Given the description of an element on the screen output the (x, y) to click on. 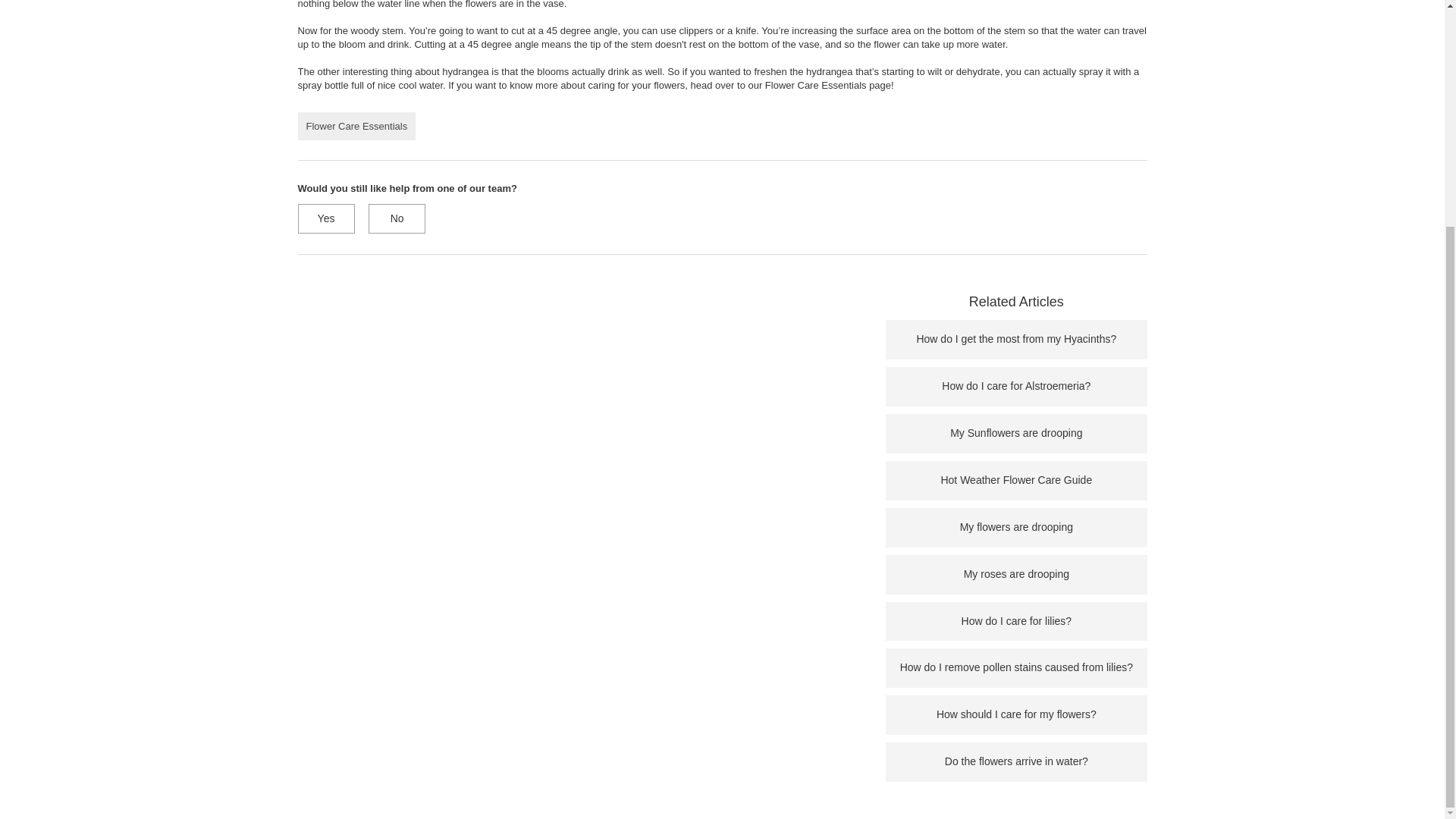
My roses are drooping (1015, 573)
My Sunflowers are drooping (1015, 432)
No (396, 218)
My flowers are drooping (1016, 526)
How do I care for lilies? (1015, 621)
Do the flowers arrive in water? (1015, 761)
How should I care for my flowers? (1016, 714)
Yes (325, 218)
How do I get the most from my Hyacinths? (1015, 338)
Hot Weather Flower Care Guide (1016, 480)
